Given the description of an element on the screen output the (x, y) to click on. 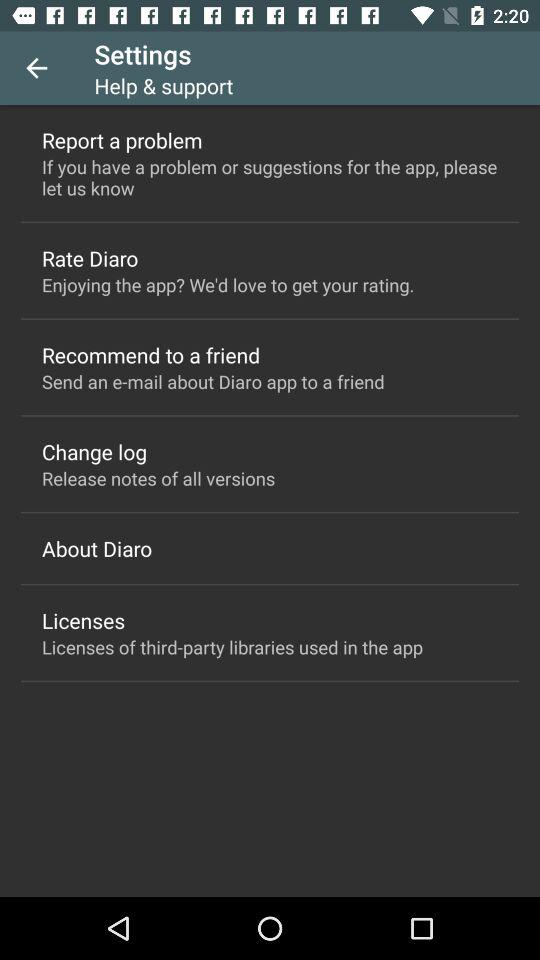
open the app next to the settings app (36, 68)
